Given the description of an element on the screen output the (x, y) to click on. 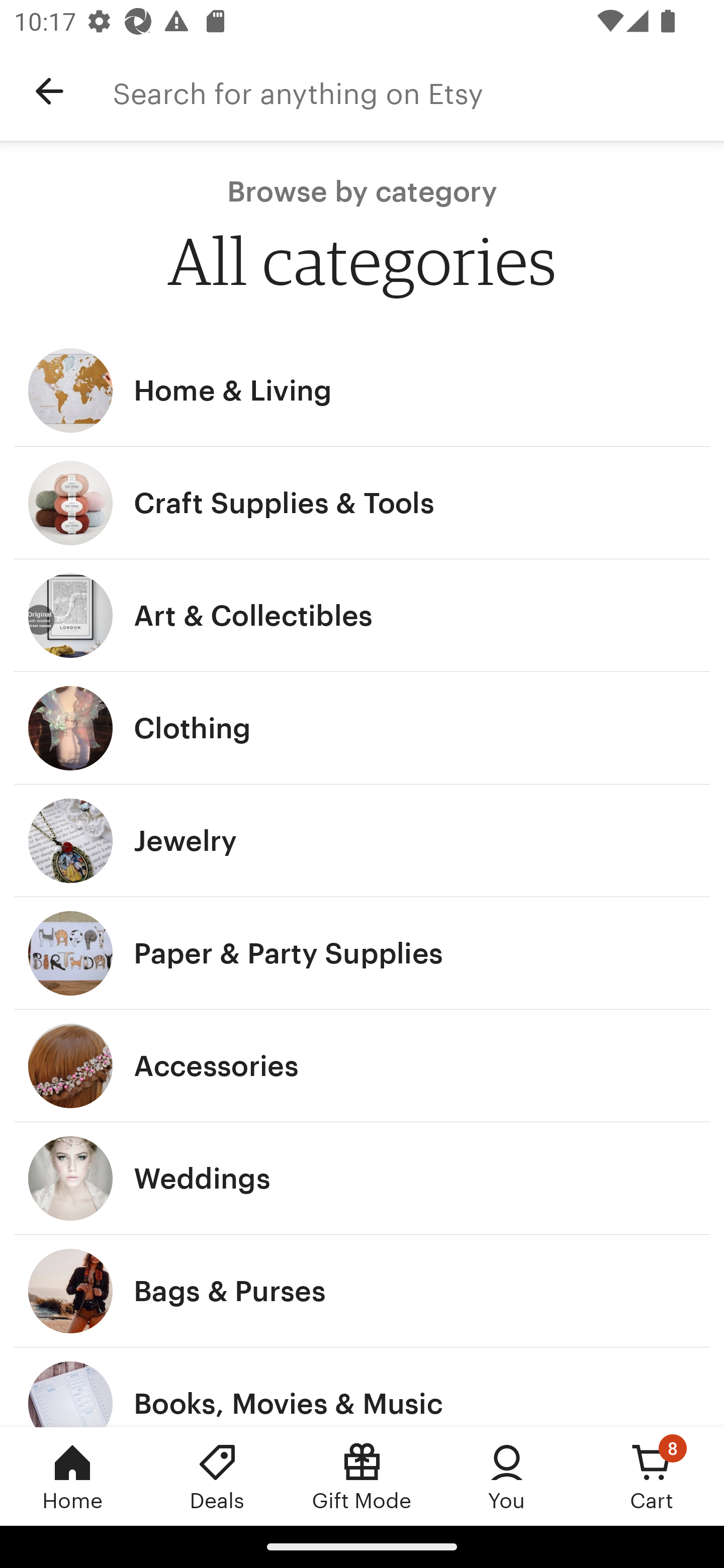
Navigate up (49, 91)
Search for anything on Etsy (418, 91)
Home & Living (361, 389)
Craft Supplies & Tools (361, 502)
Art & Collectibles (361, 615)
Clothing (361, 728)
Jewelry (361, 840)
Paper & Party Supplies (361, 952)
Accessories (361, 1065)
Weddings (361, 1178)
Bags & Purses (361, 1290)
Books, Movies & Music (361, 1386)
Deals (216, 1475)
Gift Mode (361, 1475)
You (506, 1475)
Cart, 8 new notifications Cart (651, 1475)
